Given the description of an element on the screen output the (x, y) to click on. 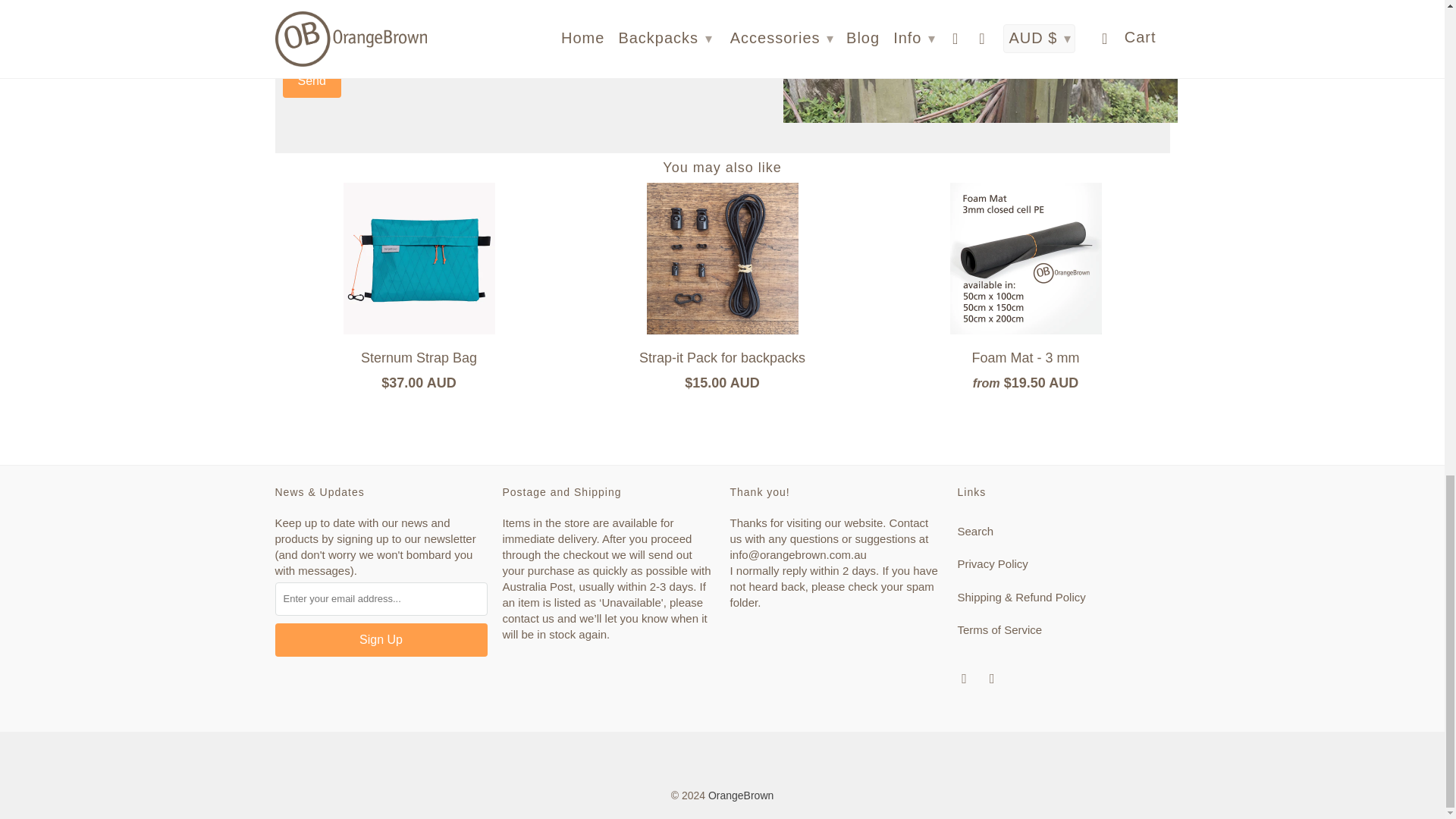
Send (311, 80)
Sign Up (380, 639)
